Given the description of an element on the screen output the (x, y) to click on. 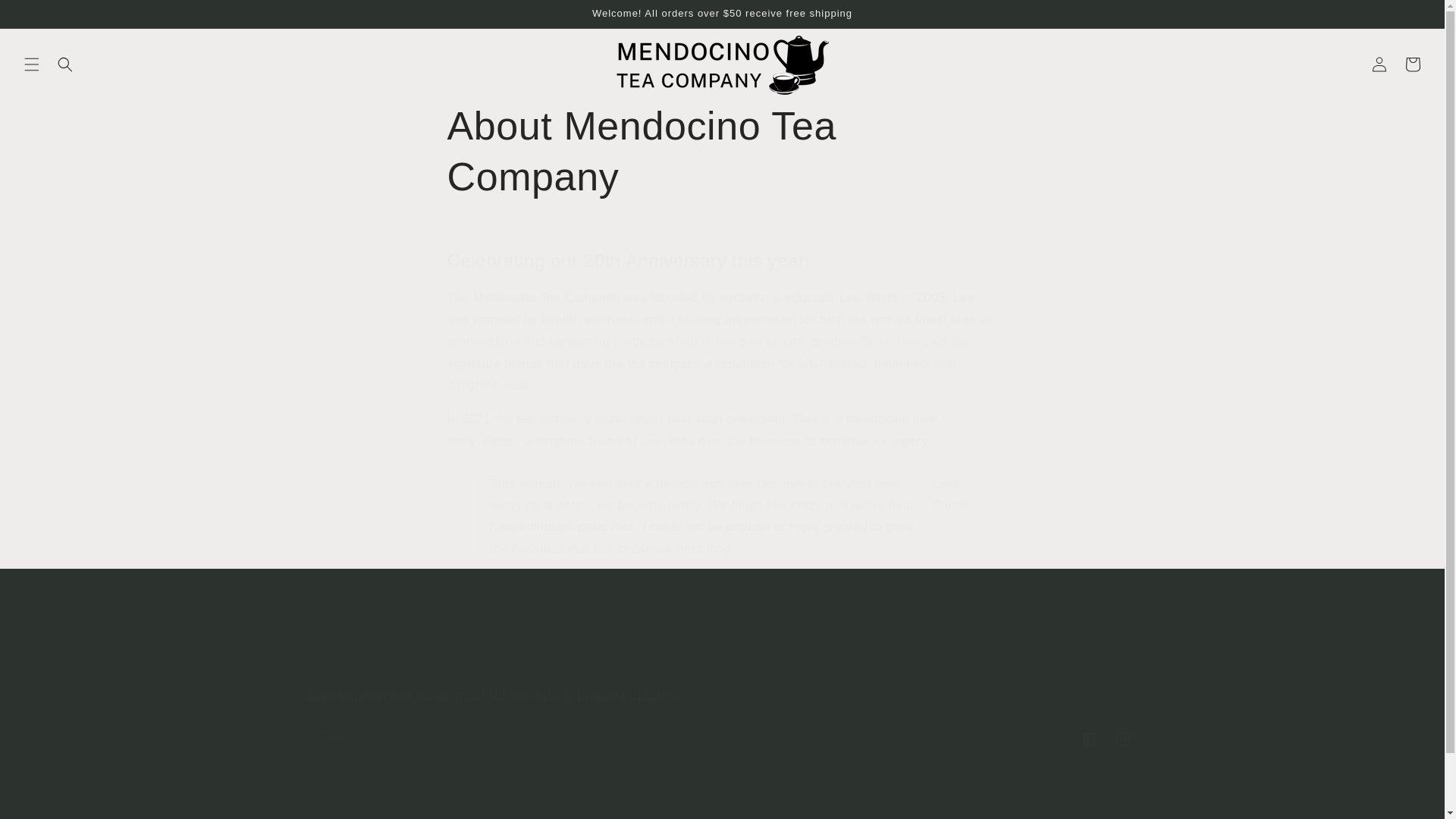
About Mendocino Tea Company (721, 151)
Find Our Teas (572, 667)
Facebook (1088, 738)
Log in (1379, 64)
Cart (1412, 64)
Customer Reviews (735, 665)
Skip to content (45, 17)
Instagram (1121, 738)
Search (888, 665)
